Given the description of an element on the screen output the (x, y) to click on. 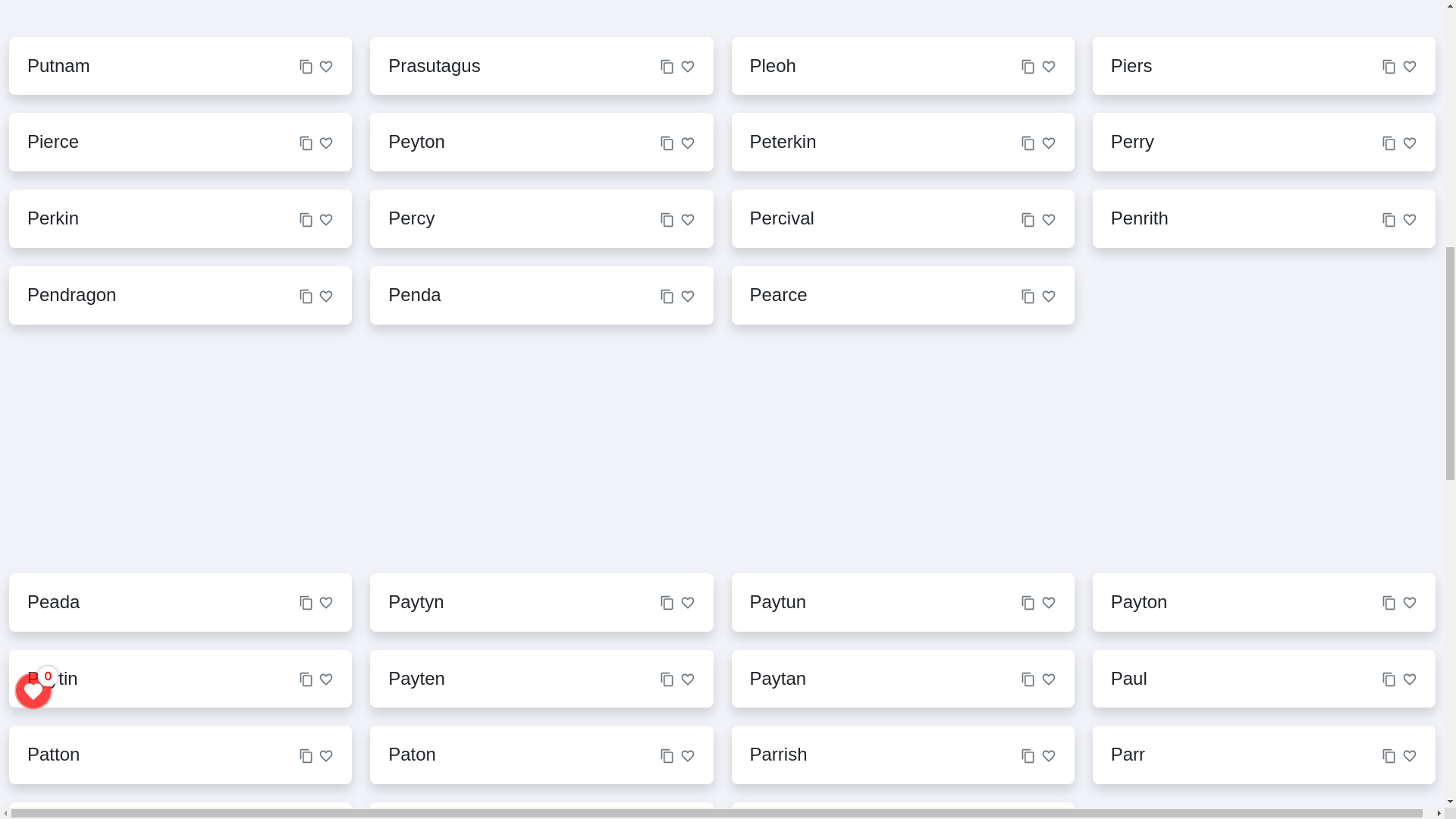
Advertisement (697, 449)
Advertisement (1179, 449)
Advertisement (721, 12)
Advertisement (215, 449)
